Given the description of an element on the screen output the (x, y) to click on. 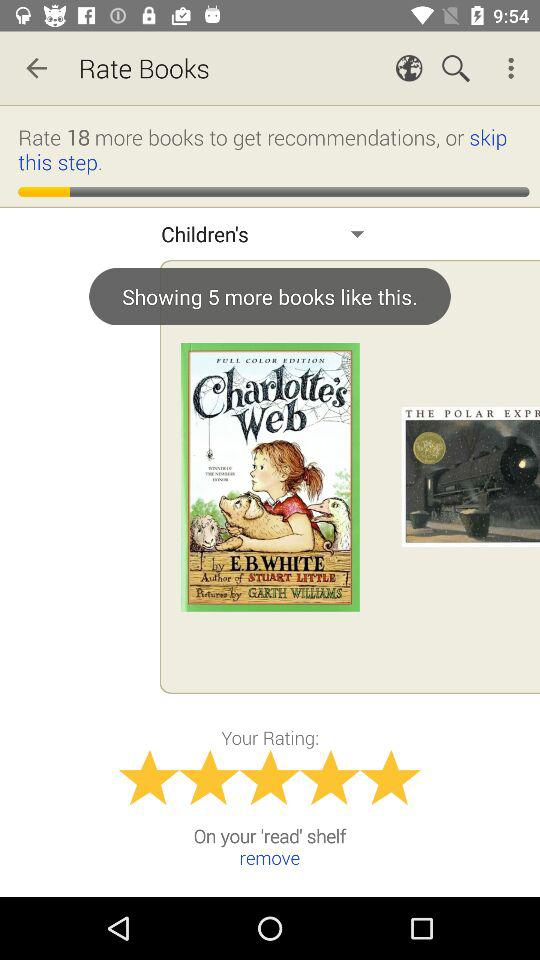
the two lines text below rate books (273, 148)
select icon which on left to search icon (408, 68)
select the 2nd image on the right next to the first image on the web page (470, 476)
magnifier icon (456, 68)
click on the icon shown at the right corner of the page above skip (514, 68)
